Given the description of an element on the screen output the (x, y) to click on. 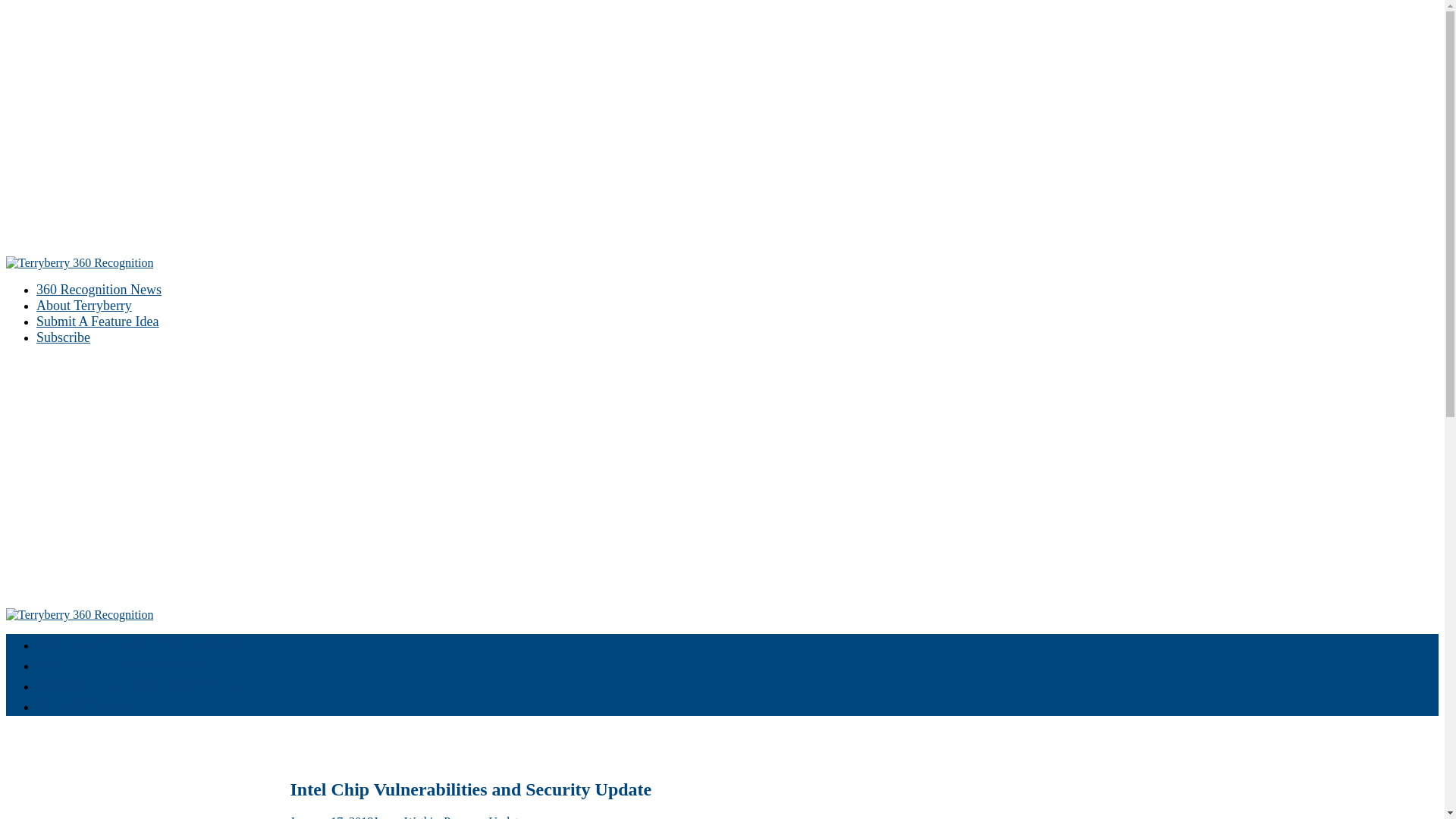
360 Recognition News Element type: text (98, 289)
Submit A Feature Idea Element type: text (97, 321)
About Terryberry Element type: text (83, 305)
SUBSCRIBE Element type: text (85, 705)
Subscribe Element type: text (63, 337)
ABOUT TERRYBERRY Element type: text (128, 664)
SUBMIT A FEATURE IDEA Element type: text (144, 684)
360 RECOGNITION NEWS Element type: text (142, 643)
